Given the description of an element on the screen output the (x, y) to click on. 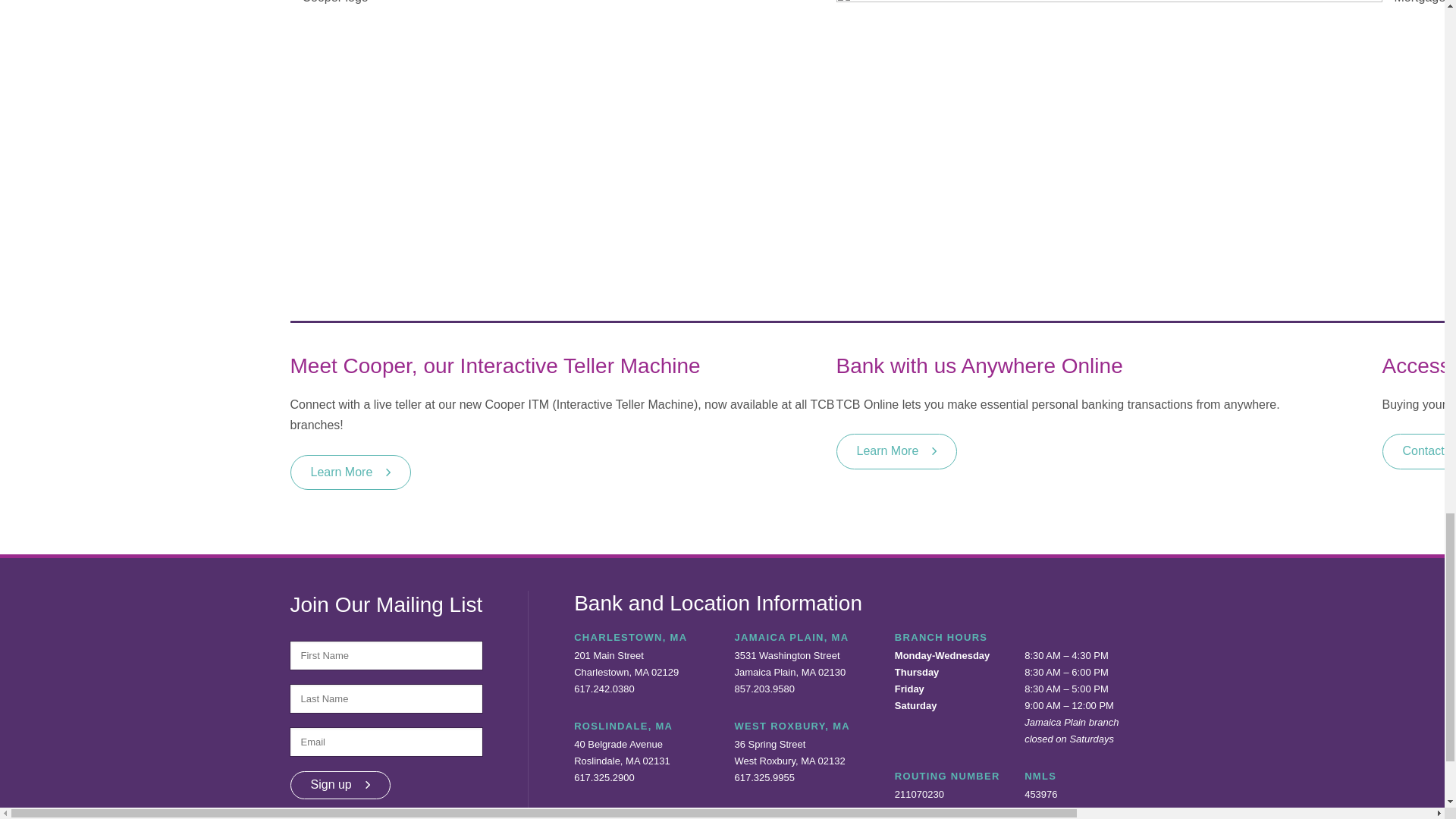
Contact (1418, 451)
Learn More (349, 472)
Learn More (895, 451)
Sign up (339, 785)
